Given the description of an element on the screen output the (x, y) to click on. 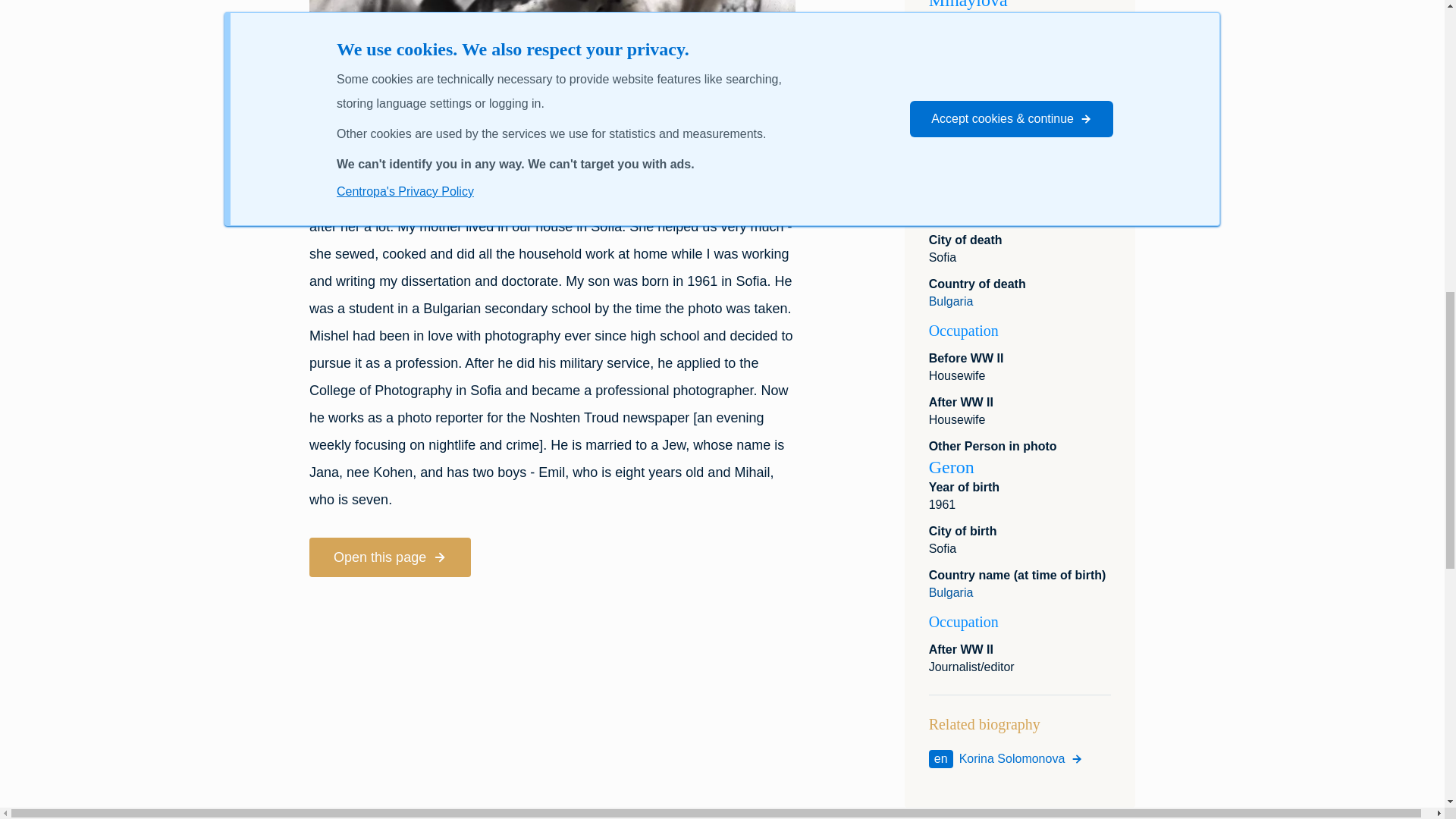
Matilda Mihaylova and Mishel Geron (551, 53)
